Given the description of an element on the screen output the (x, y) to click on. 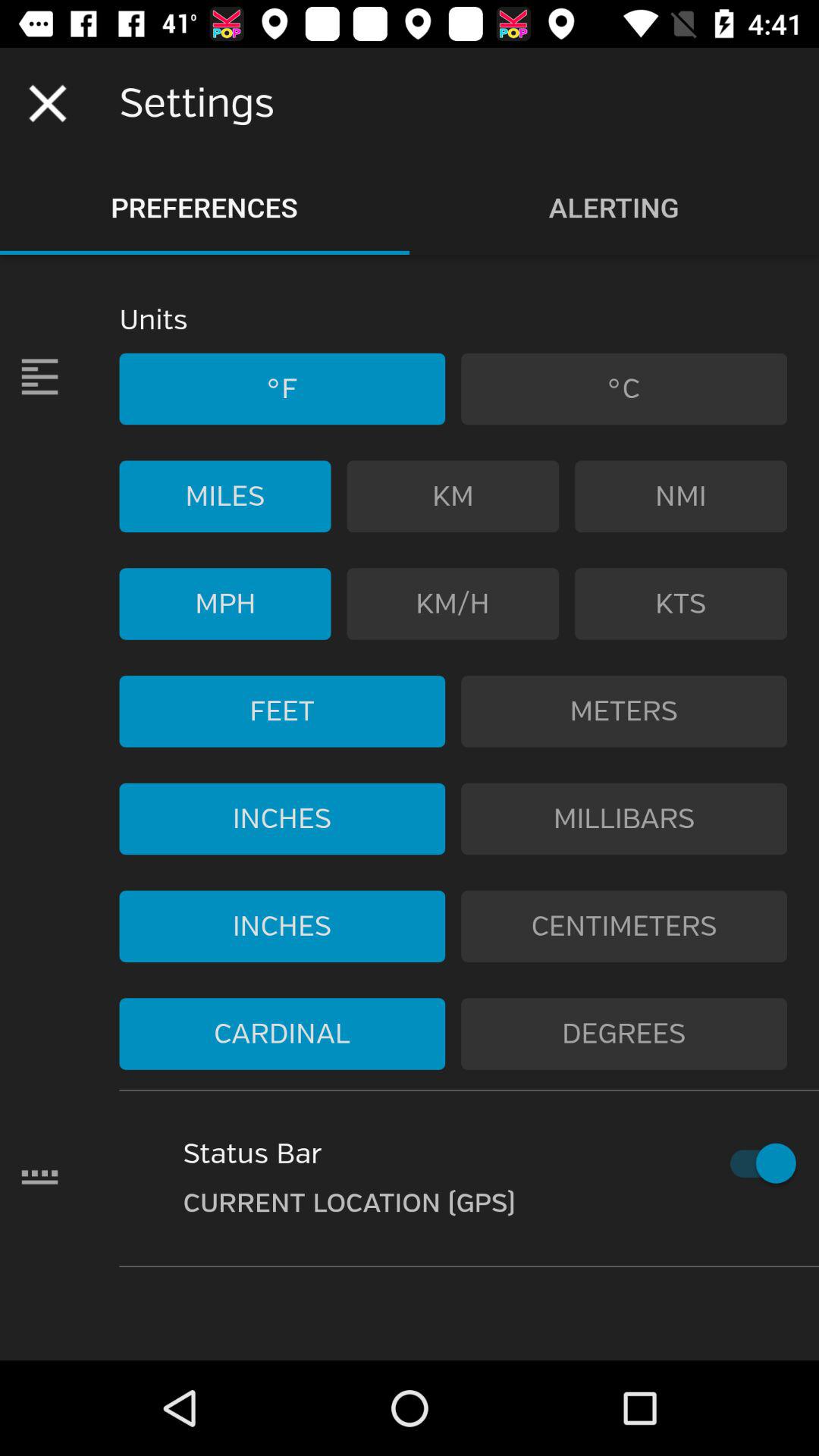
flip until the millibars item (624, 818)
